Given the description of an element on the screen output the (x, y) to click on. 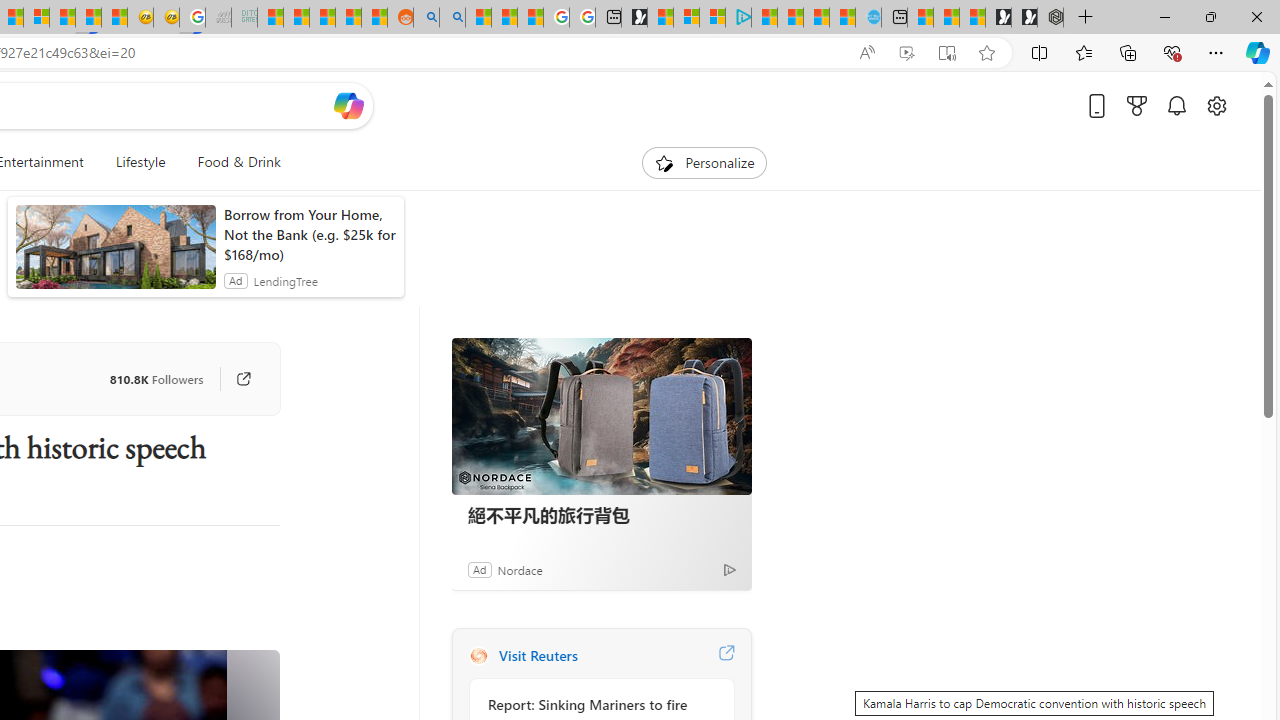
DITOGAMES AG Imprint - Sleeping (244, 17)
Food & Drink (239, 162)
Utah sues federal government - Search (452, 17)
Lifestyle (140, 162)
Lifestyle (139, 162)
Enhance video (906, 53)
